Given the description of an element on the screen output the (x, y) to click on. 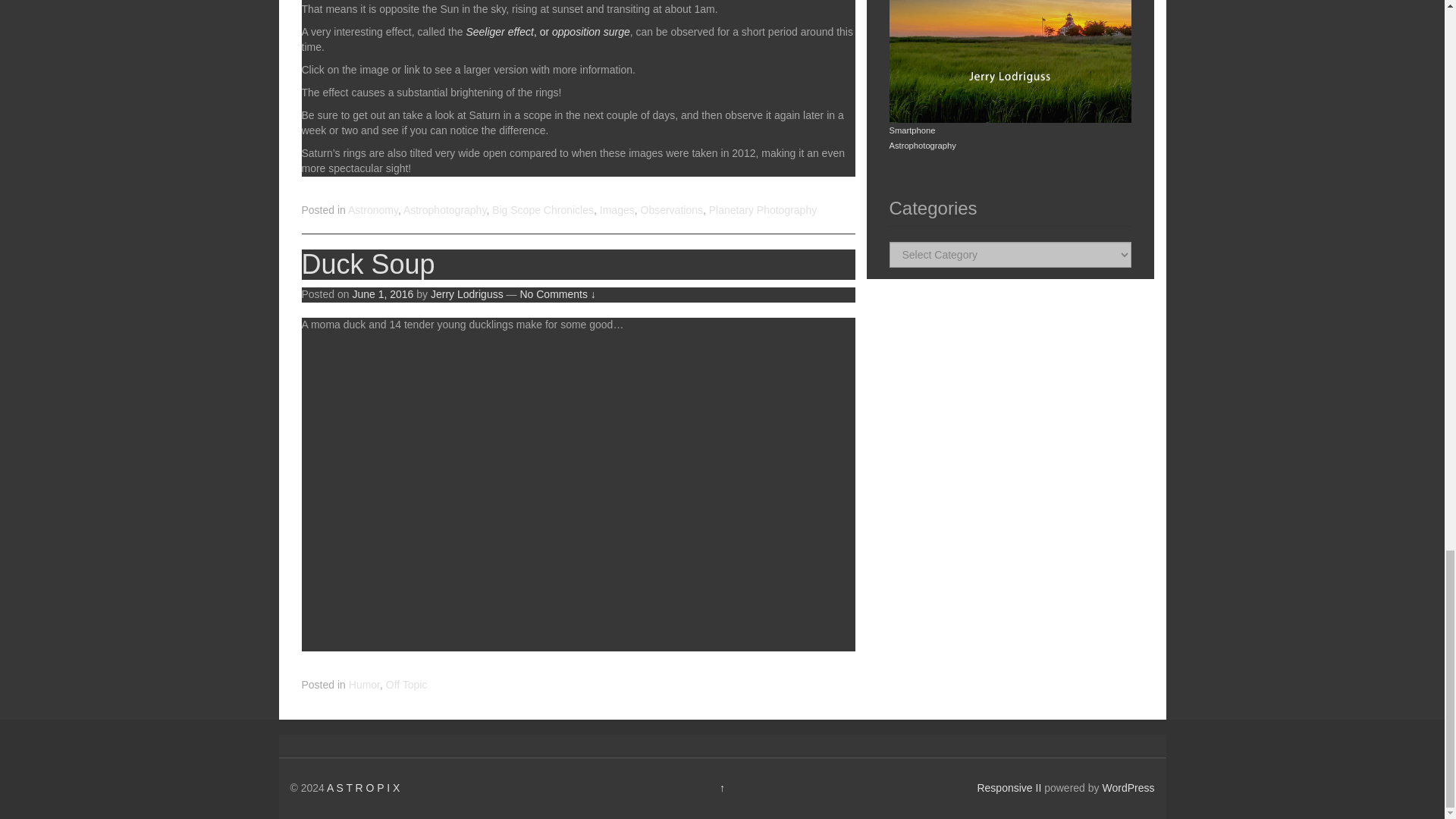
Big Scope Chronicles (543, 209)
Duck Soup (368, 264)
Images (616, 209)
View all posts by Jerry Lodriguss (466, 294)
Observations (670, 209)
A S T R O P I X (363, 787)
Astronomy (372, 209)
7:02 am (382, 294)
Seeliger effect, or opposition surge (546, 31)
Astrophotography (444, 209)
